Given the description of an element on the screen output the (x, y) to click on. 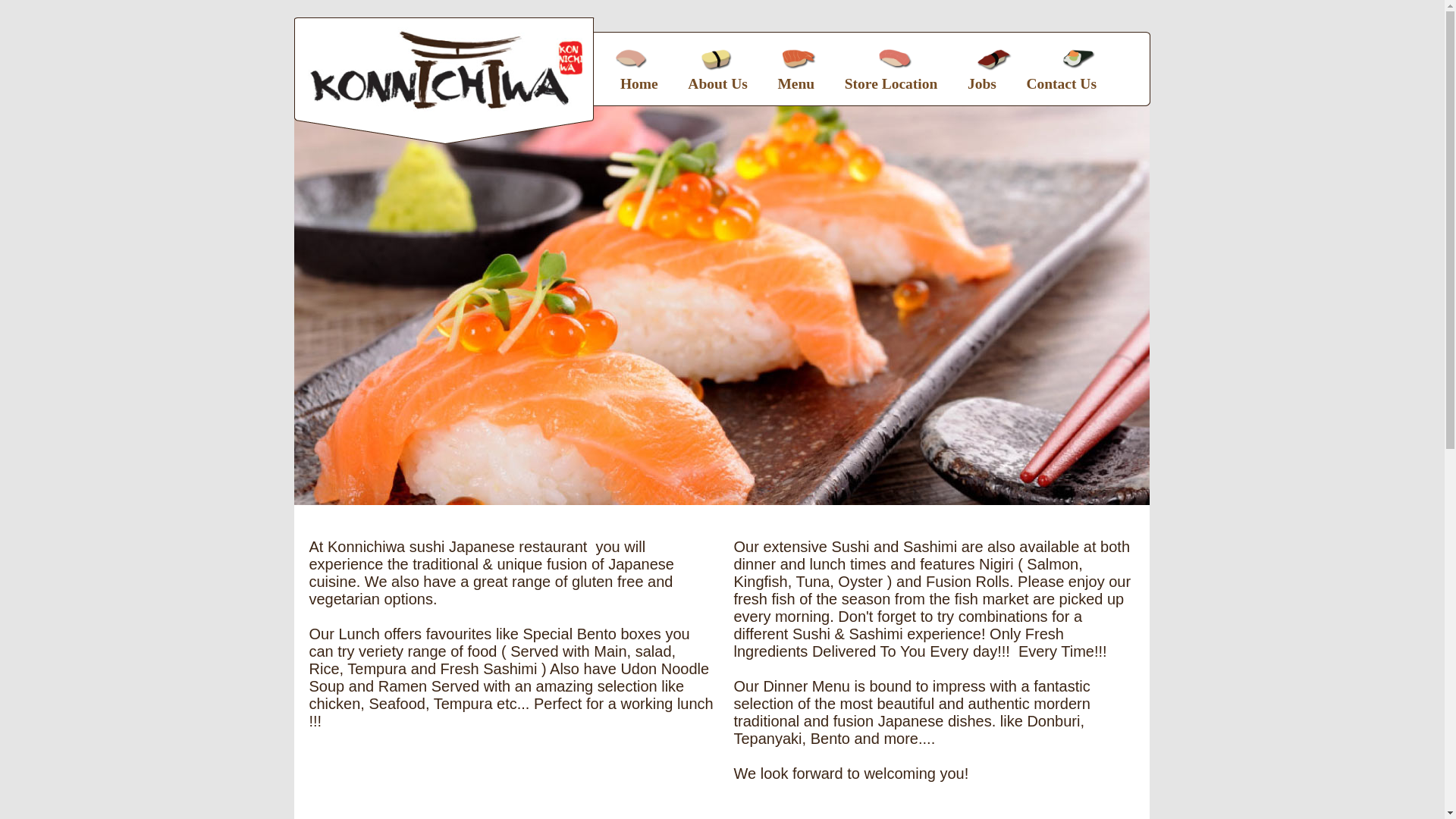
About Us Element type: text (717, 83)
Store Location Element type: text (890, 83)
Home Element type: text (639, 83)
Jobs Element type: text (981, 83)
Menu Element type: text (795, 83)
Contact Us Element type: text (1061, 83)
